Given the description of an element on the screen output the (x, y) to click on. 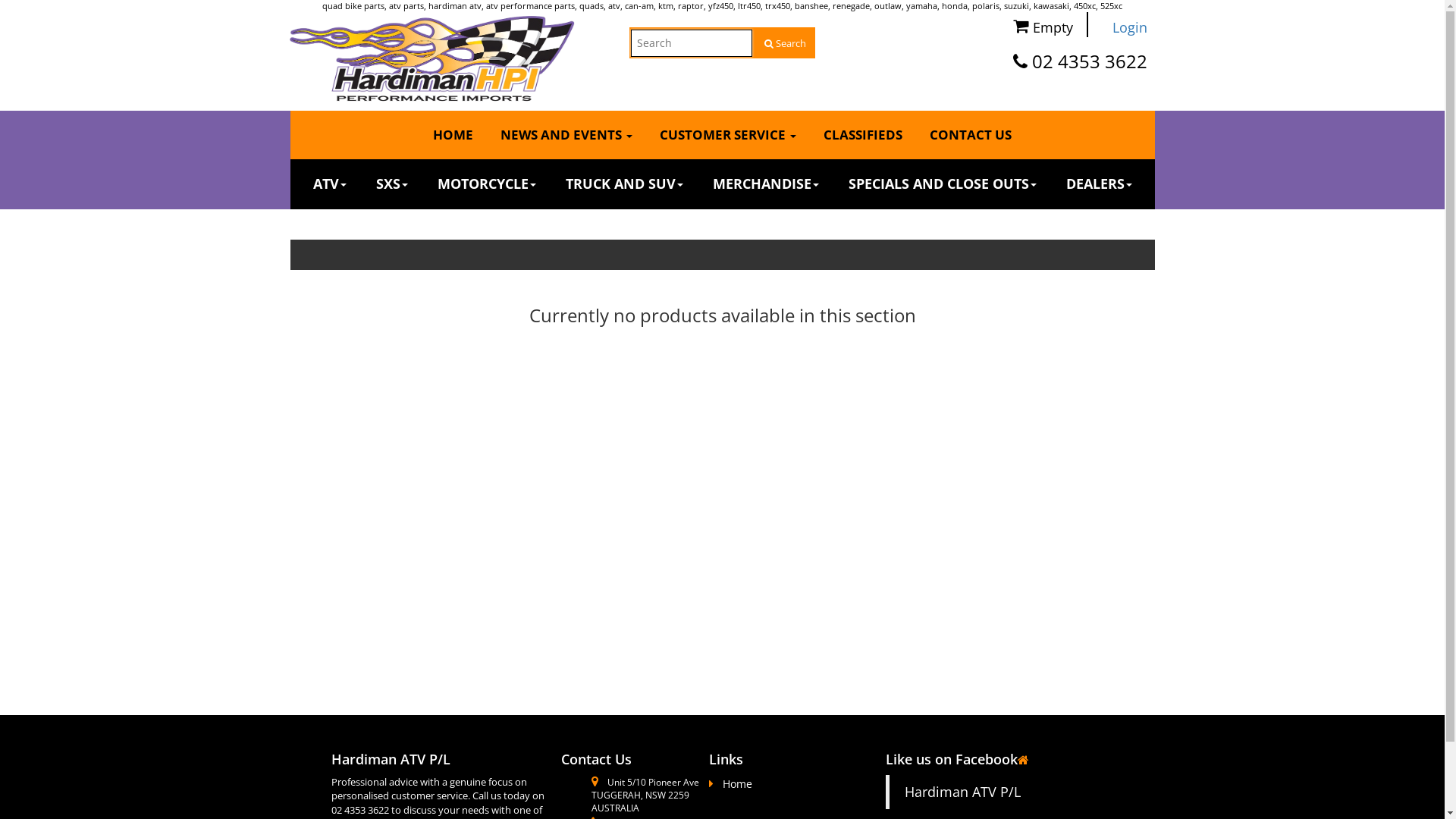
CONTACT US Element type: text (970, 134)
MERCHANDISE Element type: text (765, 184)
Hardiman ATV P/L Element type: text (962, 791)
Search Element type: text (784, 43)
DEALERS Element type: text (1098, 184)
Hardiman ATV P/L Logo Element type: hover (431, 57)
SXS Element type: text (391, 184)
CUSTOMER SERVICE Element type: text (727, 134)
Home Element type: text (730, 783)
02 4353 3622 Element type: text (1088, 60)
TRUCK AND SUV Element type: text (624, 184)
Login Element type: text (1123, 27)
HOME Element type: text (452, 134)
Empty Element type: text (1041, 21)
CLASSIFIEDS Element type: text (862, 134)
NEWS AND EVENTS Element type: text (566, 134)
MOTORCYCLE Element type: text (486, 184)
SPECIALS AND CLOSE OUTS Element type: text (941, 184)
ATV Element type: text (328, 184)
